Given the description of an element on the screen output the (x, y) to click on. 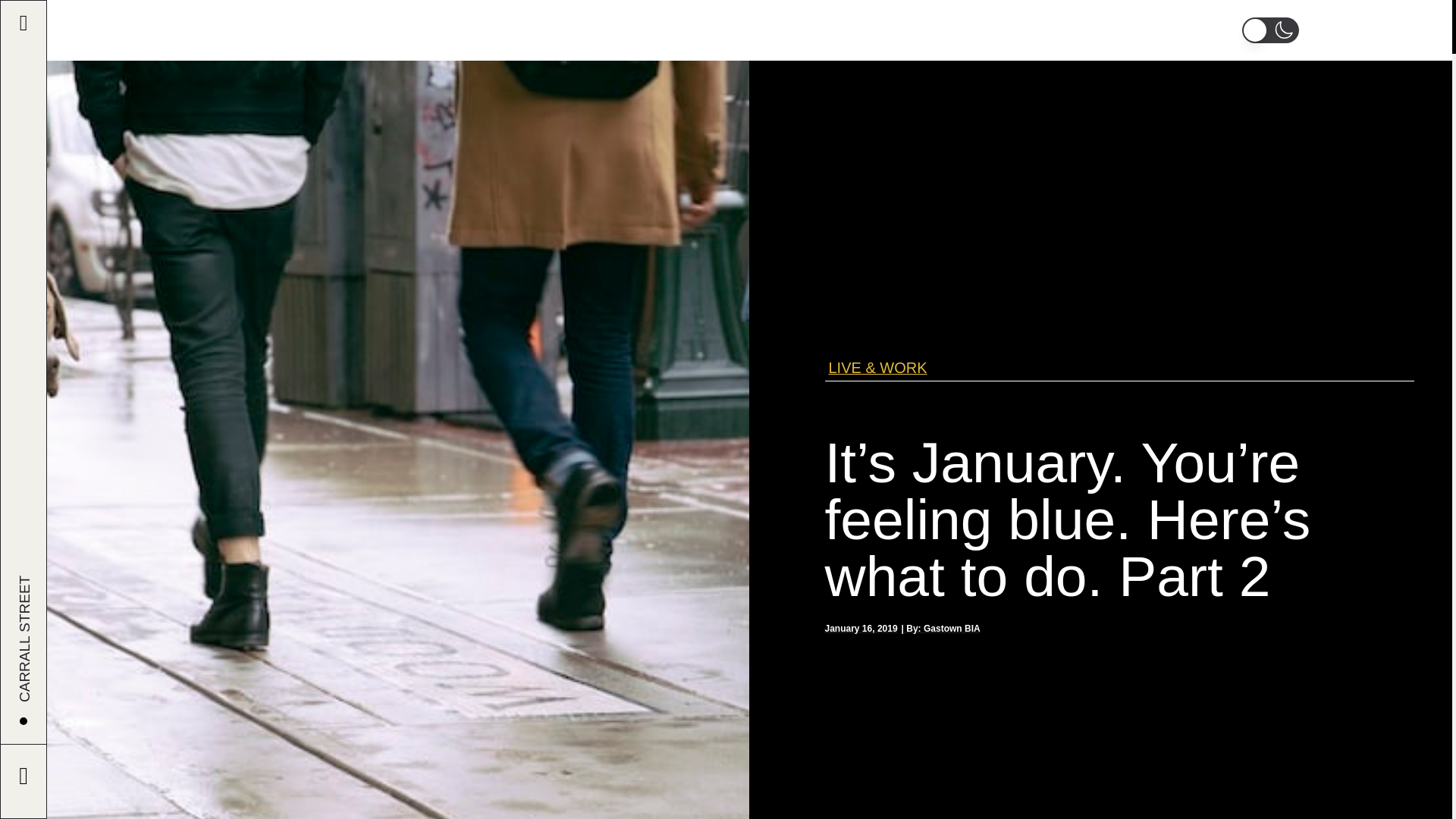
January 16, 2019 (861, 629)
